Given the description of an element on the screen output the (x, y) to click on. 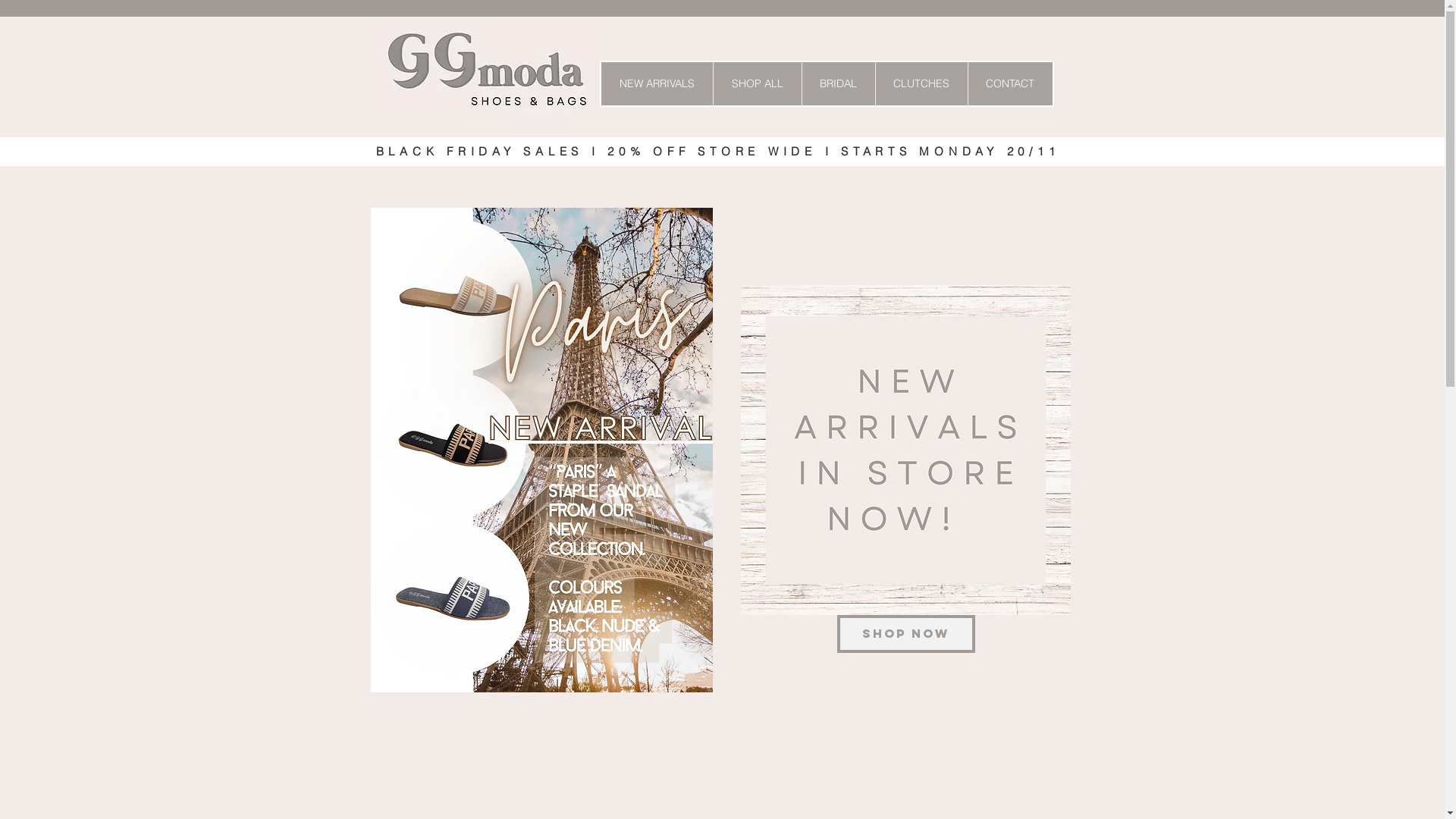
SHOP ALL Element type: text (756, 83)
Shop now Element type: text (906, 633)
CLUTCHES Element type: text (921, 83)
BRIDAL Element type: text (837, 83)
NEW ARRIVALS Element type: text (656, 83)
CONTACT Element type: text (1009, 83)
